Given the description of an element on the screen output the (x, y) to click on. 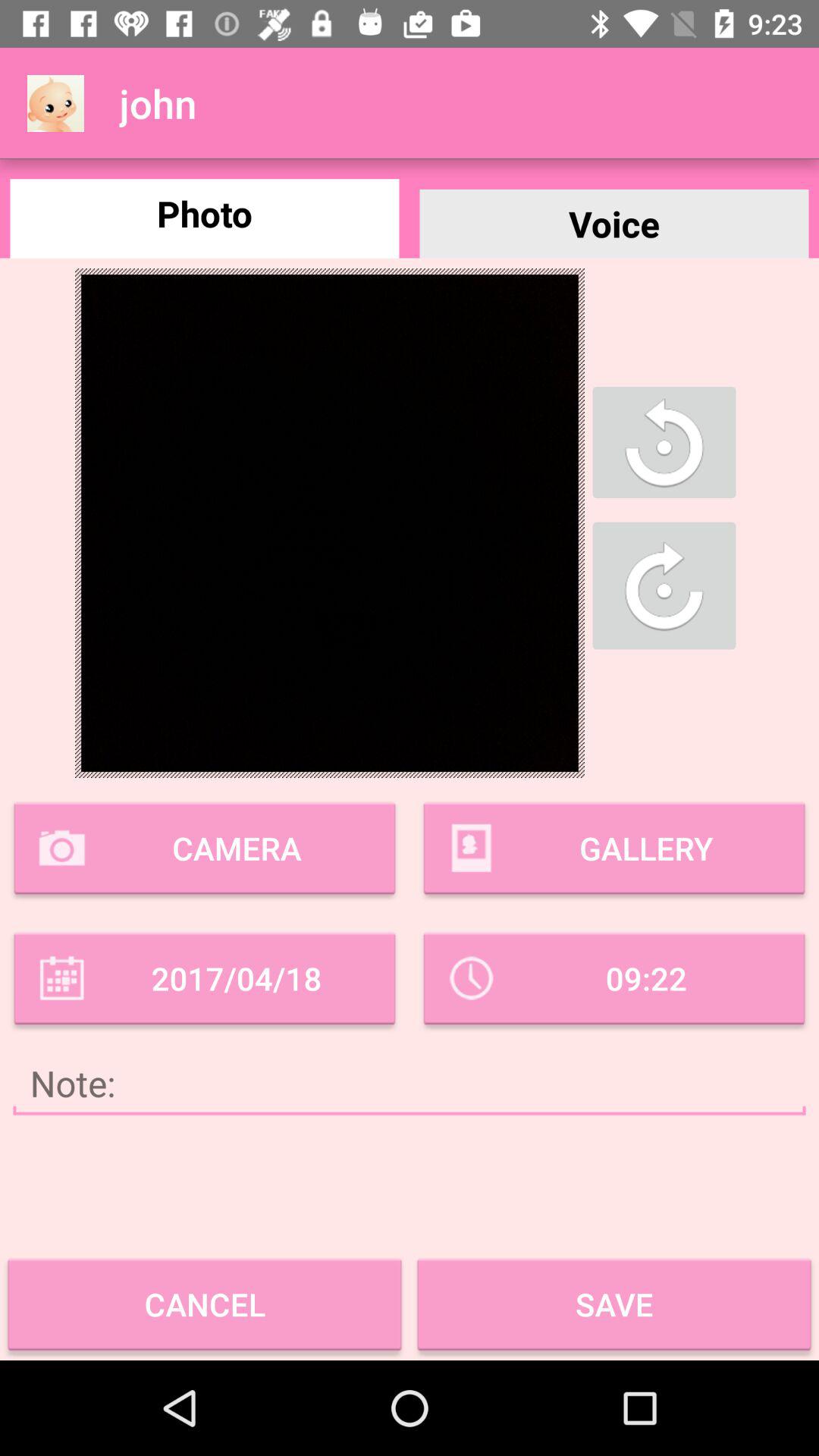
add note text (409, 1083)
